Given the description of an element on the screen output the (x, y) to click on. 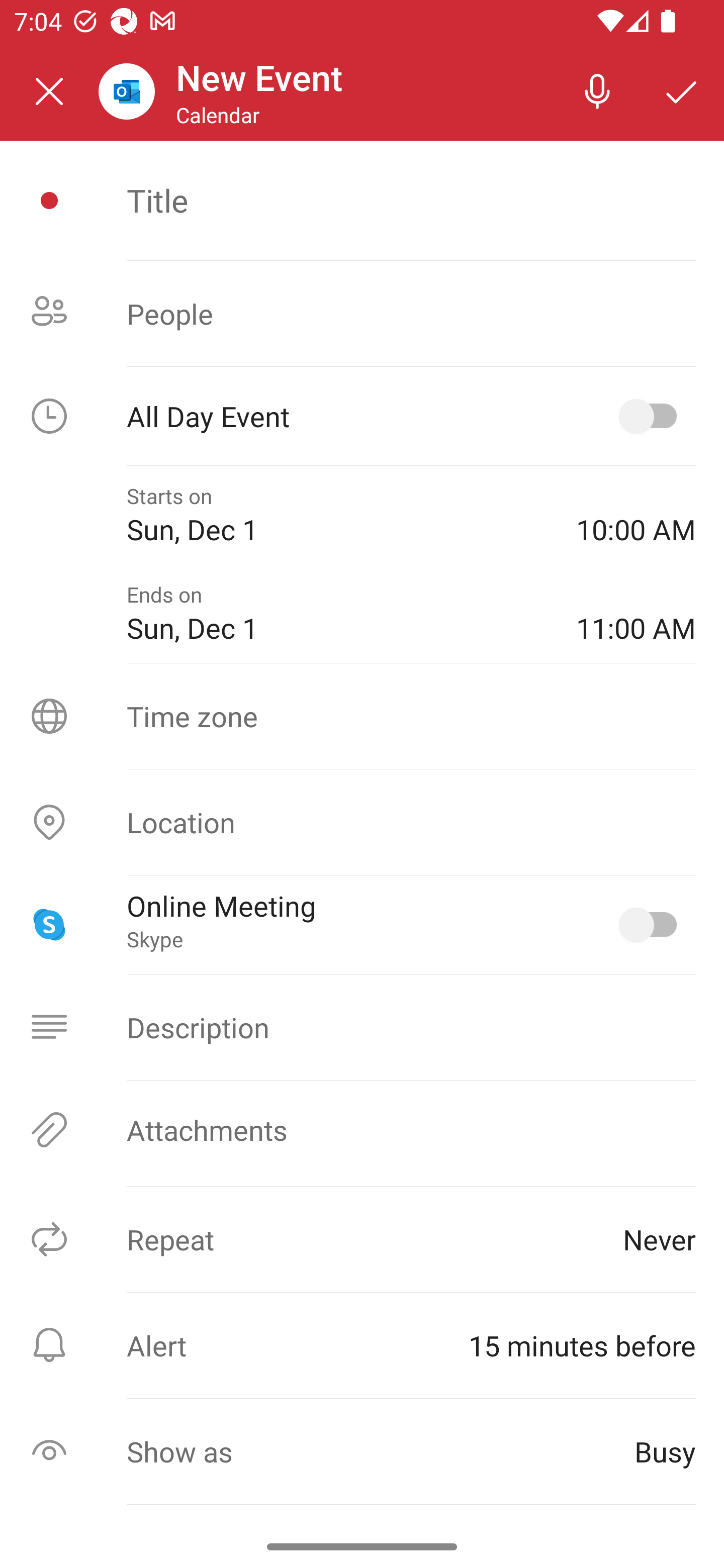
Close (49, 91)
Save (681, 90)
Title (410, 200)
Event icon picker (48, 200)
People (362, 313)
All Day Event (362, 415)
Starts on Sun, Dec 1 (336, 514)
10:00 AM (635, 514)
Ends on Sun, Dec 1 (336, 613)
11:00 AM (635, 613)
Time zone (362, 715)
Location (362, 821)
Online Meeting, Skype selected (651, 923)
Description (362, 1026)
Attachments (362, 1129)
Repeat Never (362, 1239)
Alert ⁨15 minutes before (362, 1345)
Show as Busy (362, 1450)
